Given the description of an element on the screen output the (x, y) to click on. 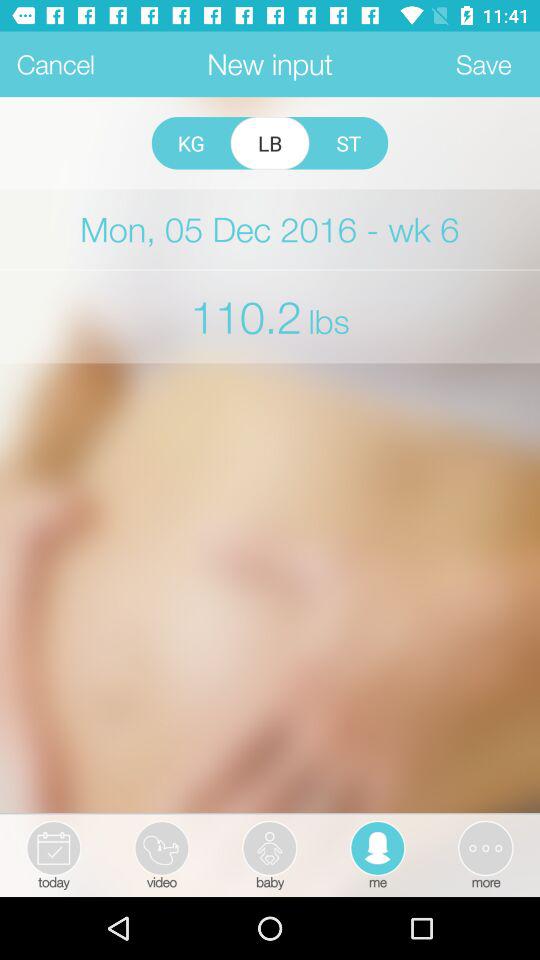
jump until st icon (348, 143)
